Given the description of an element on the screen output the (x, y) to click on. 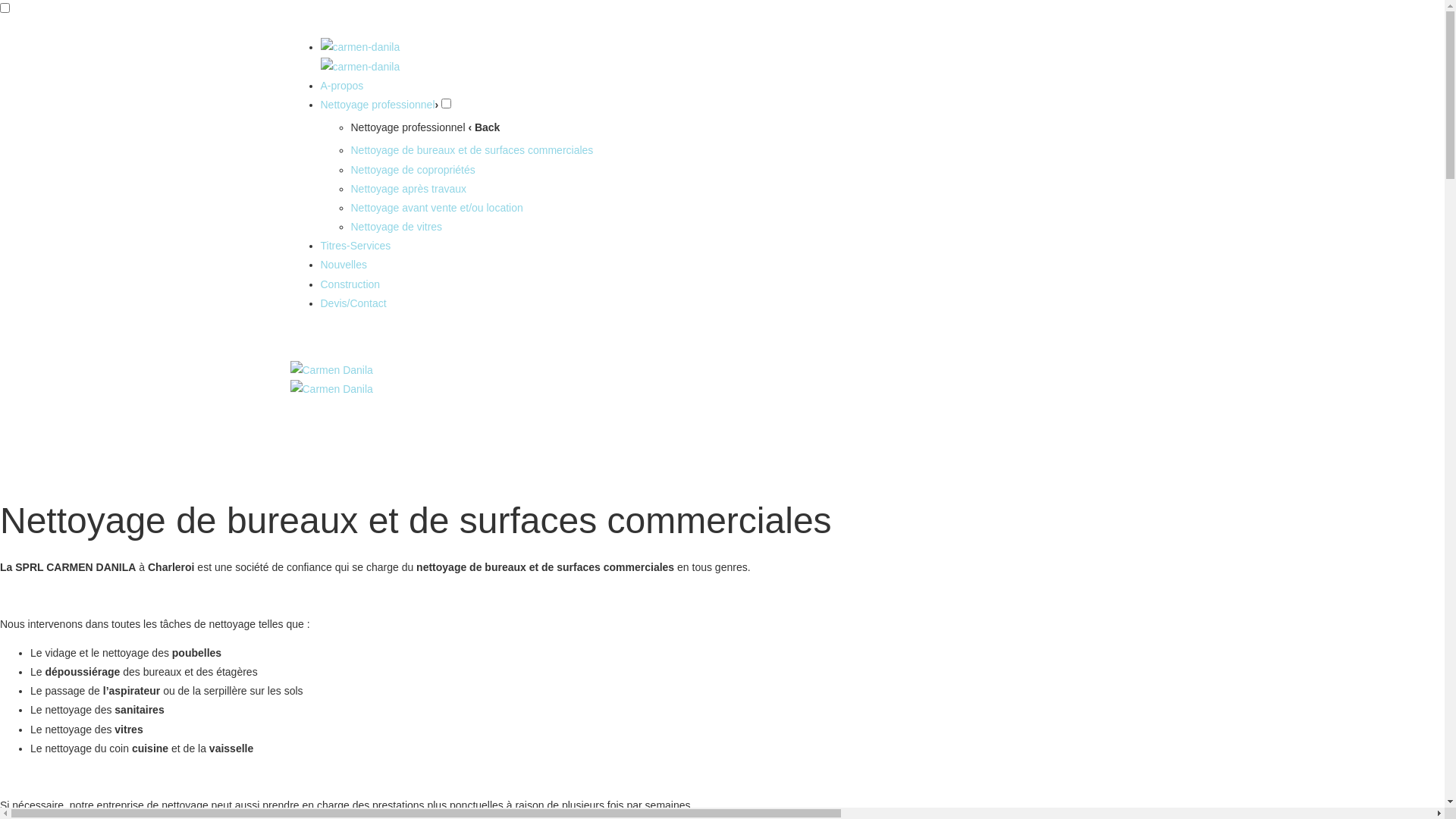
Titres-Services Element type: text (355, 245)
Construction Element type: text (349, 284)
Nettoyage professionnel Element type: text (377, 104)
Nettoyage avant vente et/ou location Element type: text (436, 207)
Devis/Contact Element type: text (352, 303)
Nettoyage de vitres Element type: text (396, 226)
A-propos Element type: text (341, 85)
Nettoyage de bureaux et de surfaces commerciales Element type: text (471, 150)
Nouvelles Element type: text (343, 264)
